Given the description of an element on the screen output the (x, y) to click on. 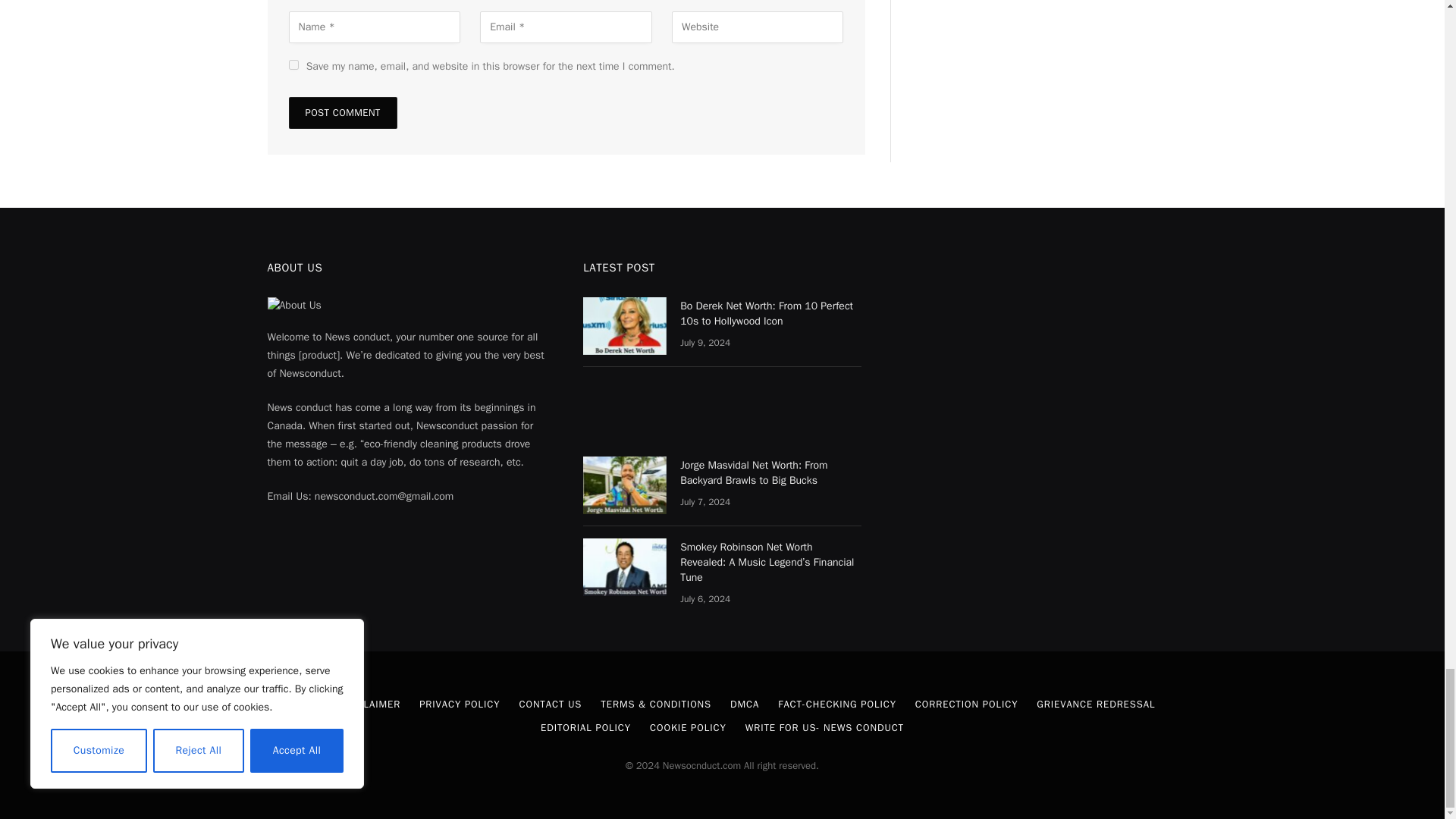
Post Comment (342, 112)
yes (293, 64)
